Given the description of an element on the screen output the (x, y) to click on. 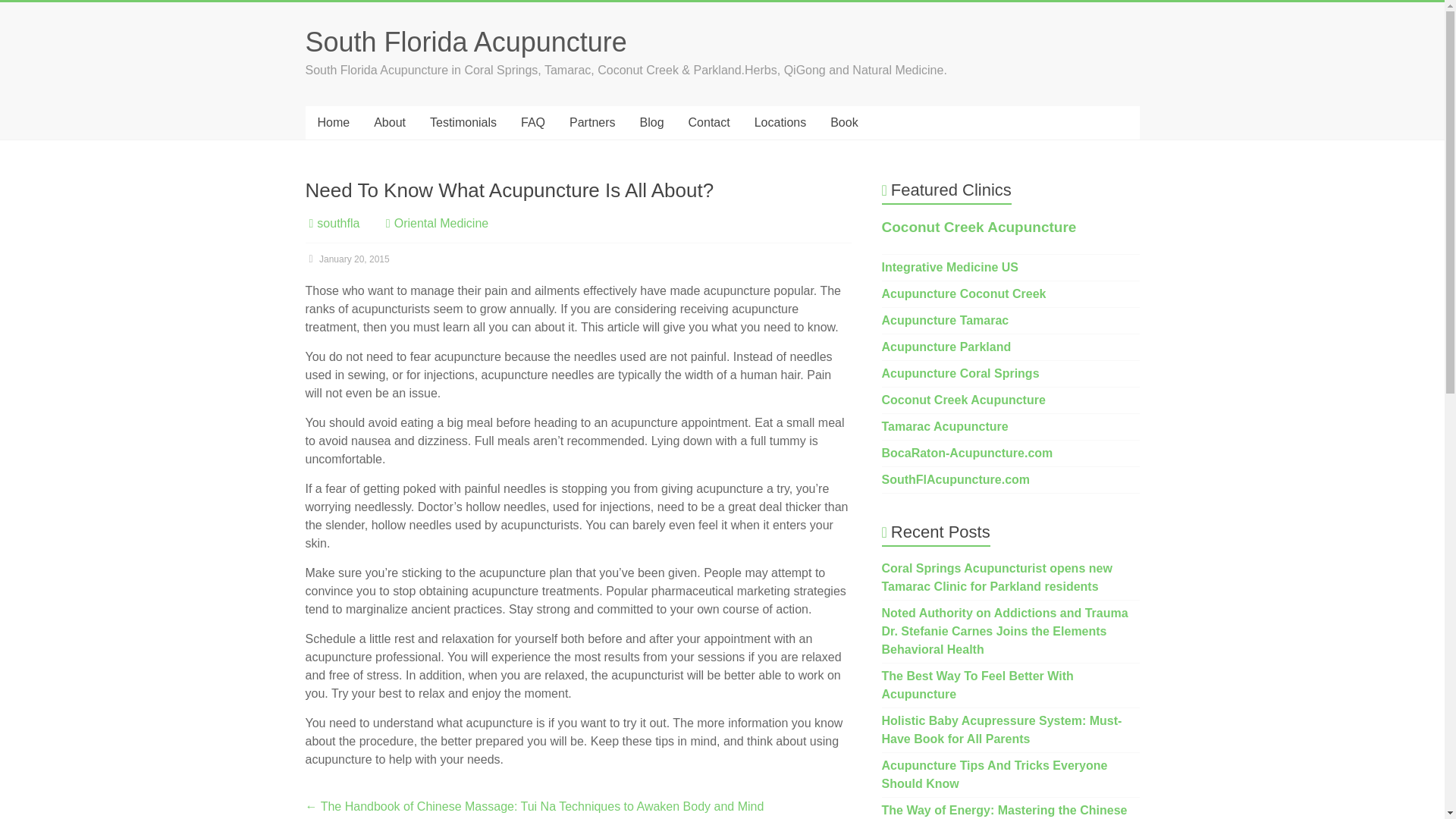
Locations (780, 122)
FAQ (532, 122)
Home (332, 122)
Acupuncture Tips And Tricks Everyone Should Know (995, 774)
Partners (592, 122)
Oriental Medicine (441, 223)
Book (843, 122)
Coconut Creek Acupuncture (963, 399)
Tamarac Acupuncture (945, 426)
Acupuncture Tamarac (945, 319)
